Given the description of an element on the screen output the (x, y) to click on. 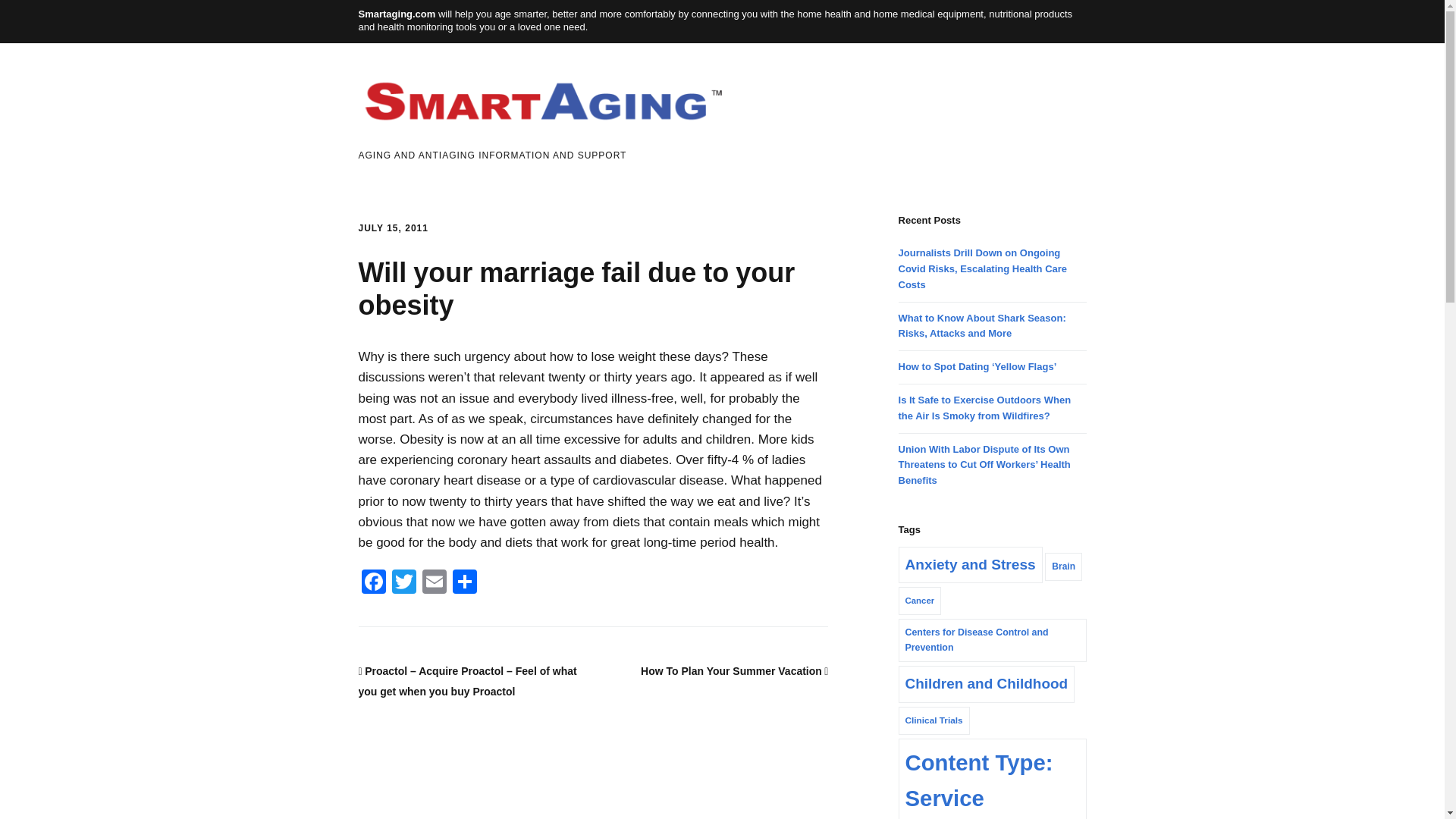
Twitter (403, 583)
Smartaging.com (396, 13)
Twitter (403, 583)
Centers for Disease Control and Prevention (992, 640)
Email (433, 583)
Brain (1063, 566)
Anxiety and Stress (970, 565)
Cancer (920, 600)
What to Know About Shark Season: Risks, Attacks and More (981, 325)
Clinical Trials (933, 720)
Email (433, 583)
Facebook (373, 583)
Facebook (373, 583)
